Given the description of an element on the screen output the (x, y) to click on. 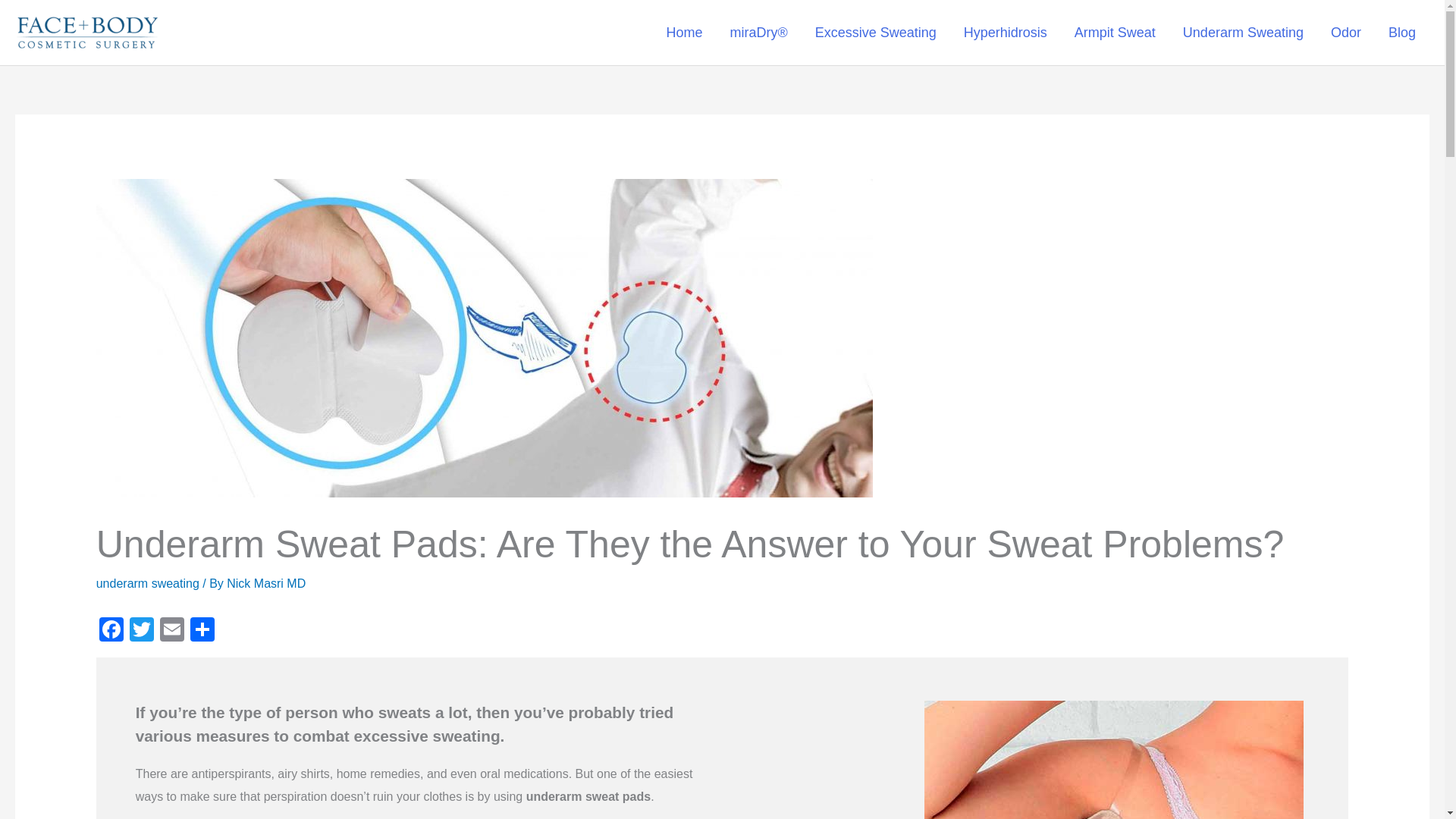
Email (172, 631)
underarm-sweat-pads-500 (1113, 760)
Nick Masri MD (266, 583)
underarm sweating (147, 583)
View all posts by Nick Masri MD (266, 583)
Blog (1401, 32)
Twitter (141, 631)
Facebook (111, 631)
Home (684, 32)
Hyperhidrosis (1005, 32)
